Given the description of an element on the screen output the (x, y) to click on. 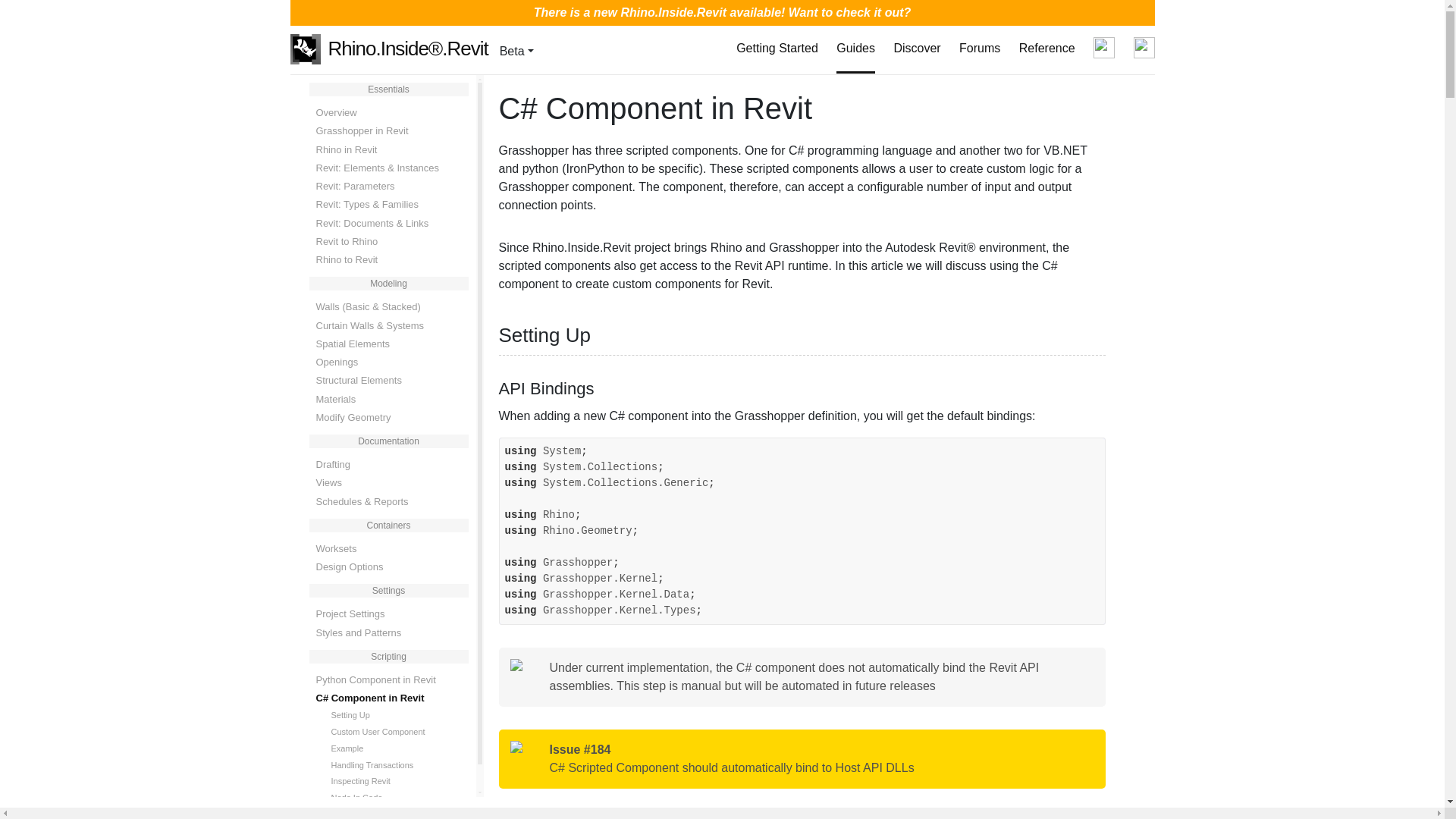
Grasshopper in Revit (382, 131)
Forums (979, 47)
Project Settings (382, 614)
Discussion Forum (979, 47)
Structural Elements (382, 380)
Custom User Component (398, 732)
Python Component in Revit (382, 679)
Modify Geometry (382, 417)
Rhino in Revit (382, 149)
Revit to Rhino (382, 241)
